Given the description of an element on the screen output the (x, y) to click on. 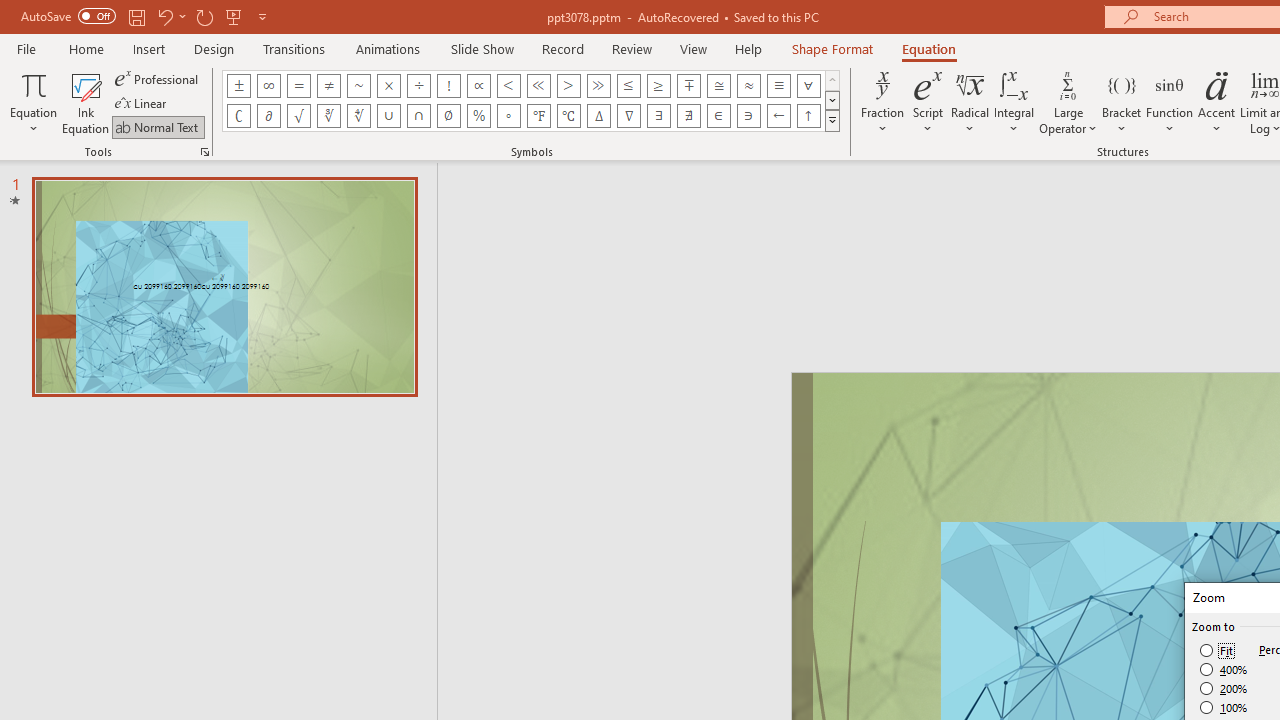
Equation Symbol Proportional To (478, 85)
Equation Symbol Division Sign (418, 85)
Equation Symbol Element Of (718, 115)
Fraction (882, 102)
Equation Symbol Degrees Celsius (568, 115)
Equation Symbol Identical To (778, 85)
Equation Symbol Much Less Than (538, 85)
Equation (33, 102)
Equation (928, 48)
Equation Symbol Greater Than (568, 85)
